Given the description of an element on the screen output the (x, y) to click on. 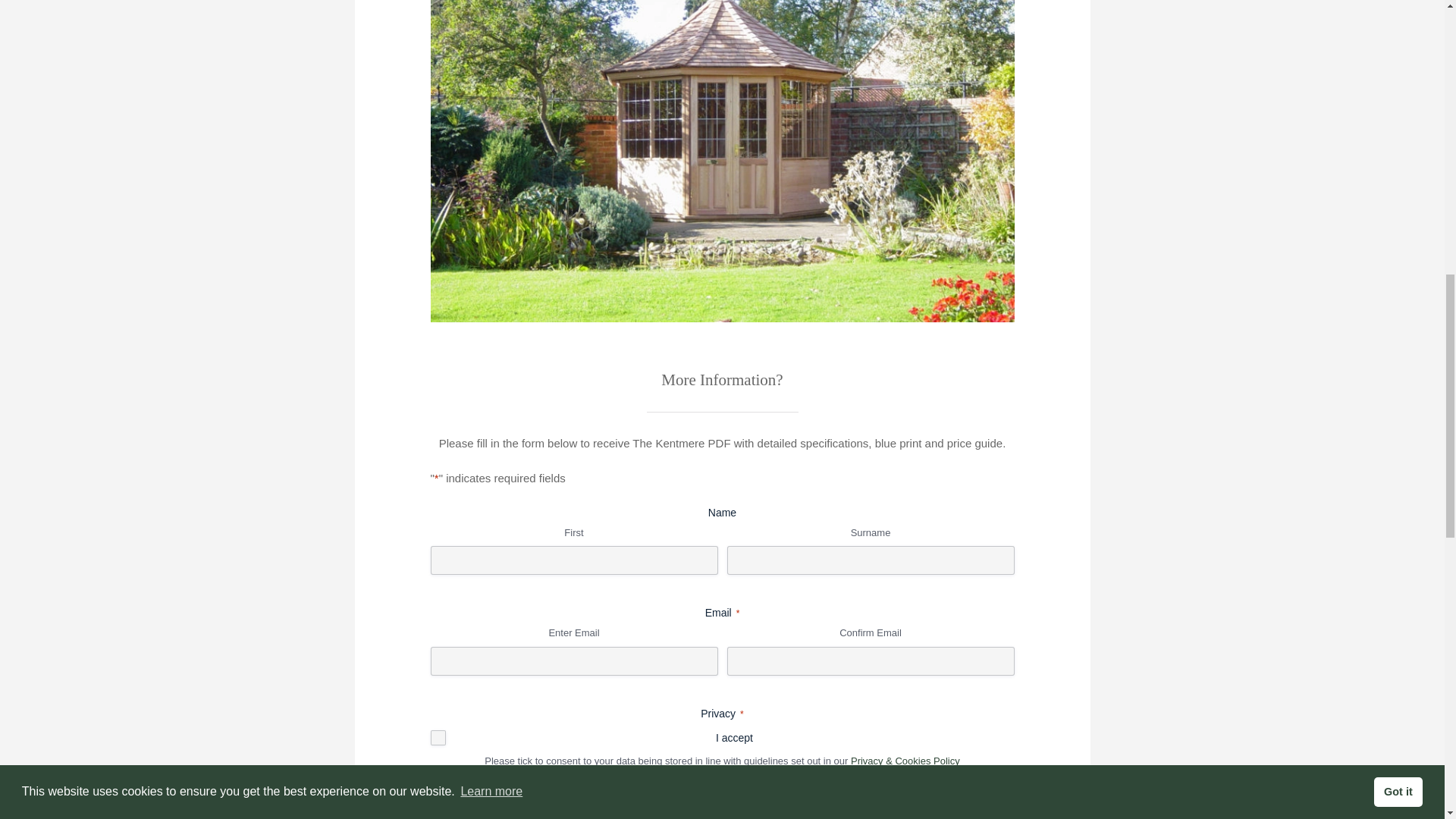
Submit (459, 801)
Submit (459, 801)
I accept (437, 737)
